Given the description of an element on the screen output the (x, y) to click on. 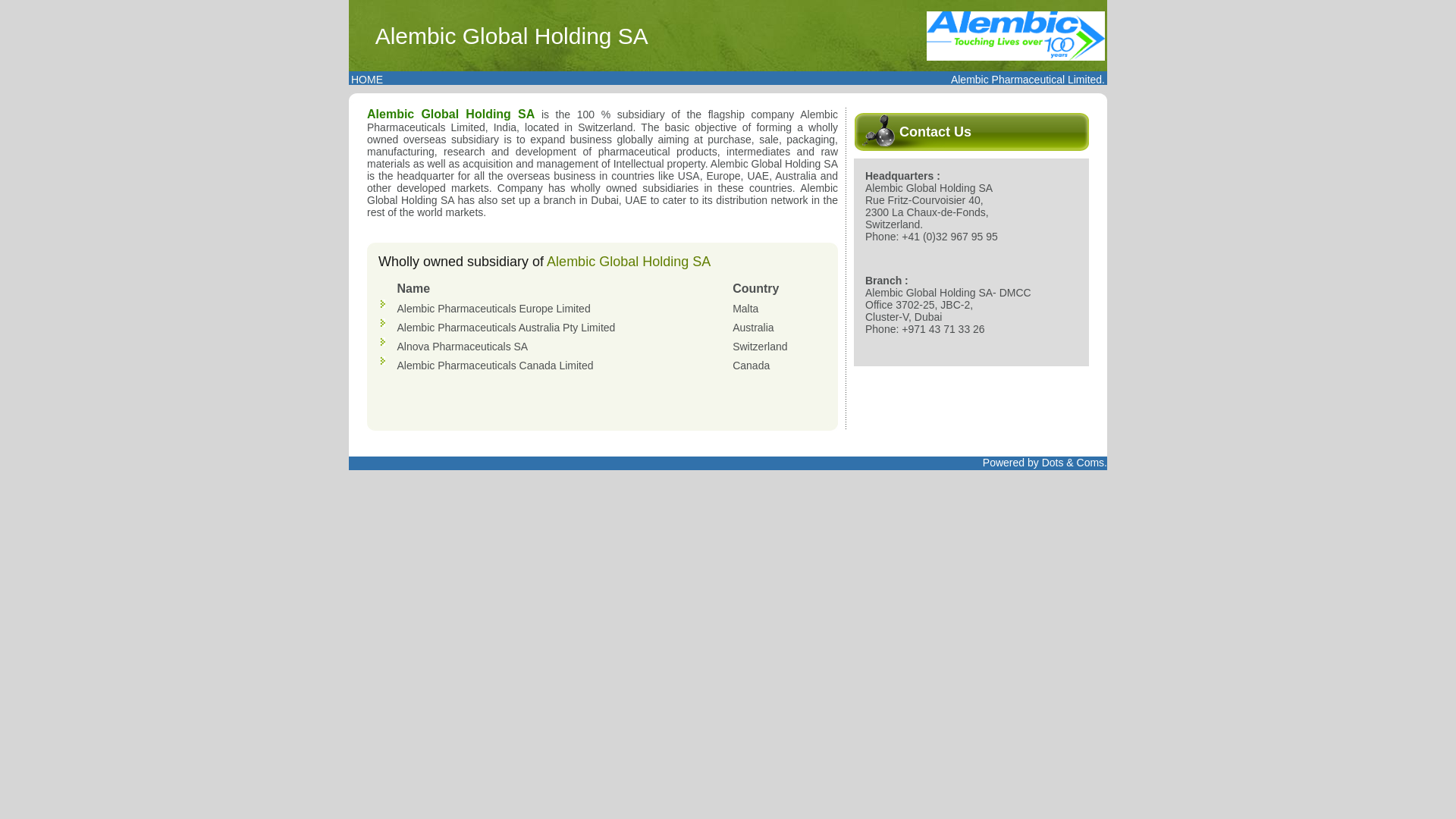
Alnova Pharmaceuticals SA Element type: text (461, 346)
Alembic Pharmaceutical Limited. Element type: text (1027, 79)
Powered by Dots & Coms. Element type: text (1044, 462)
Alembic Pharmaceuticals Australia Pty Limited Element type: text (505, 327)
Alembic Pharmaceuticals Europe Limited Element type: text (492, 308)
HOME Element type: text (366, 79)
